Given the description of an element on the screen output the (x, y) to click on. 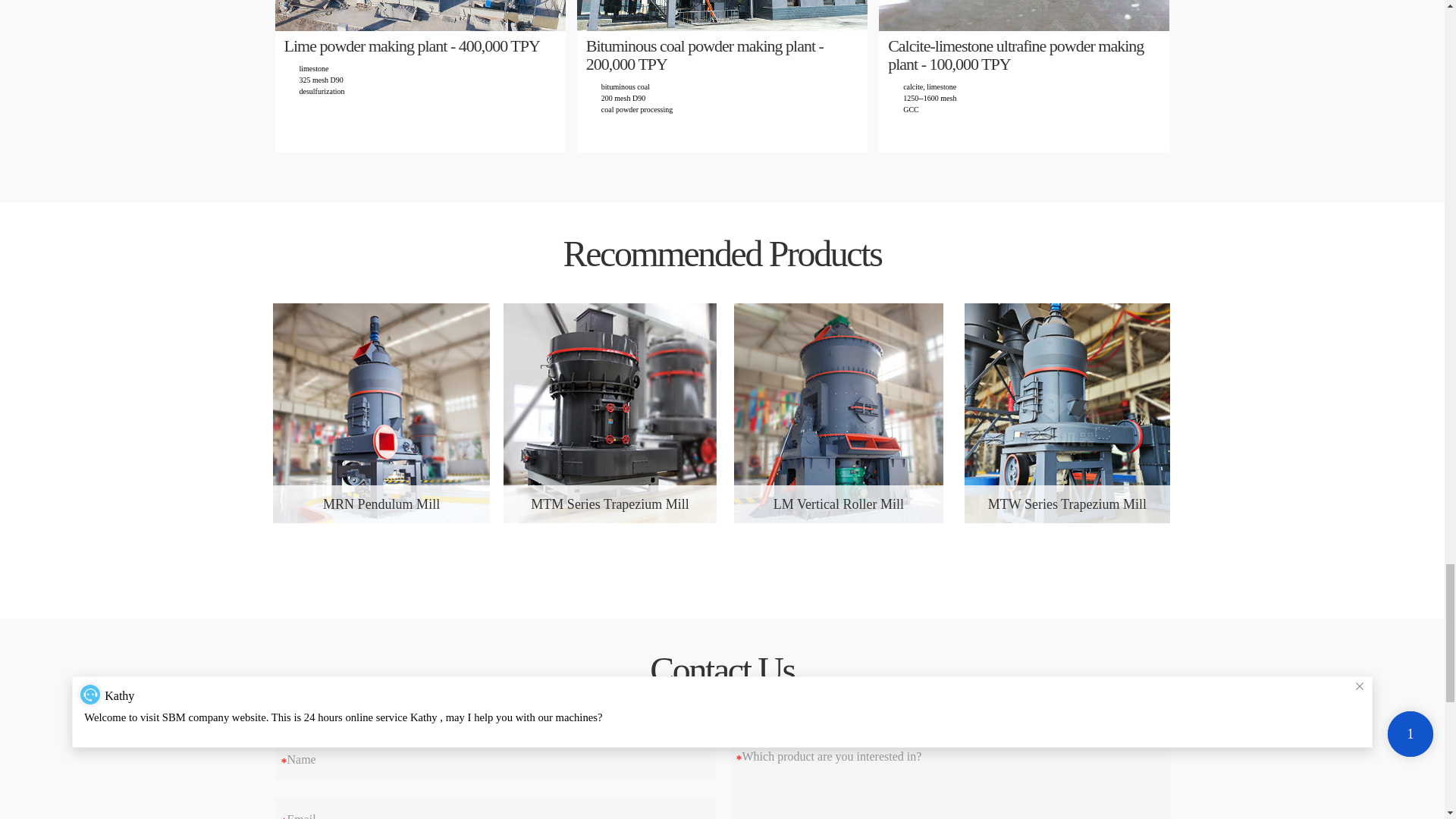
MTM Series Trapezium Mill (609, 503)
LM Vertical Roller Mill (838, 503)
MRN Pendulum Mill (381, 503)
MTW Series Trapezium Mill (1067, 503)
Bituminous coal powder making plant - 200,000 TPY (722, 54)
Lime powder making plant - 400,000 TPY (419, 45)
